Given the description of an element on the screen output the (x, y) to click on. 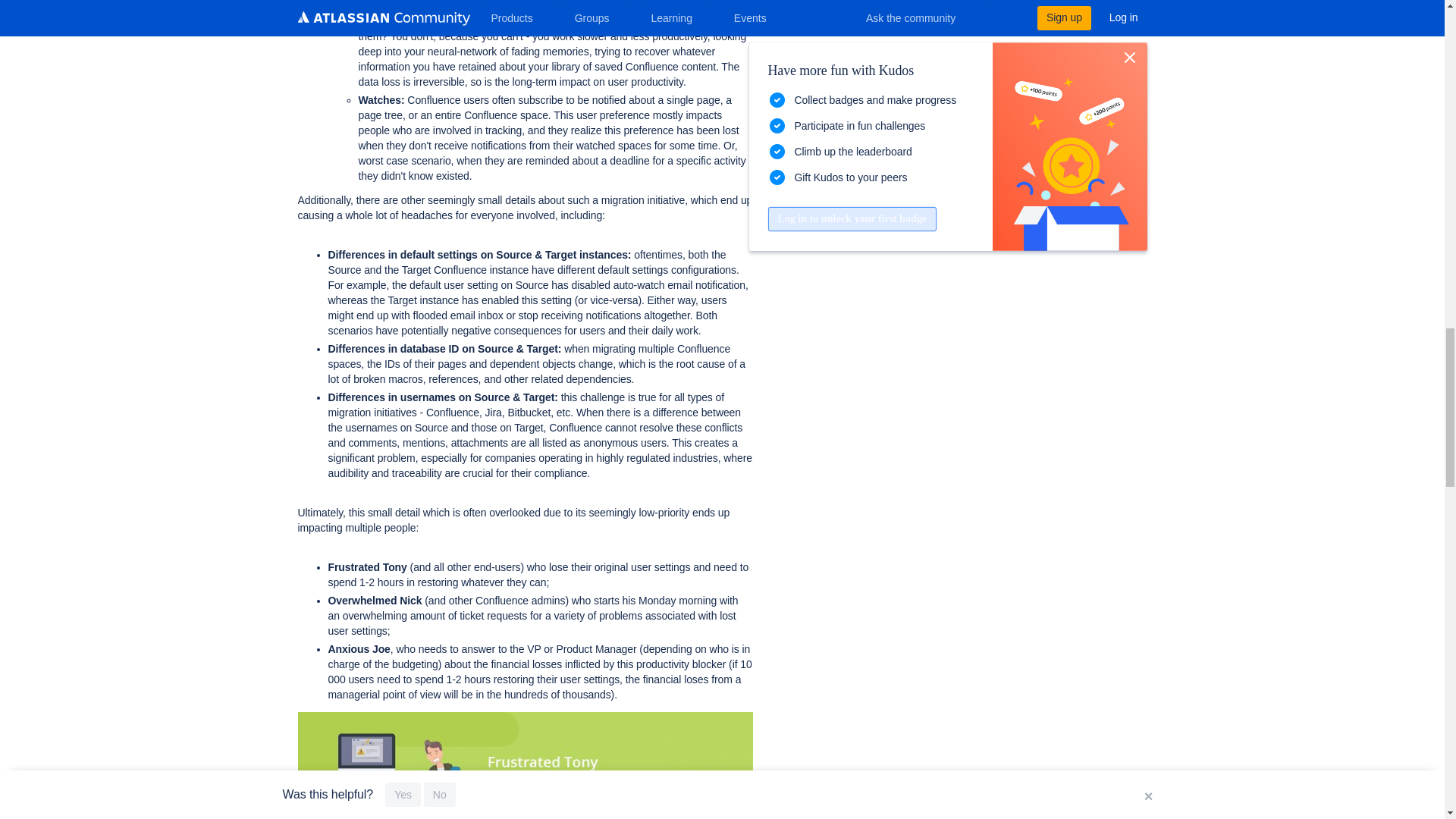
confluence-migration-text-after.jpg (524, 765)
